Given the description of an element on the screen output the (x, y) to click on. 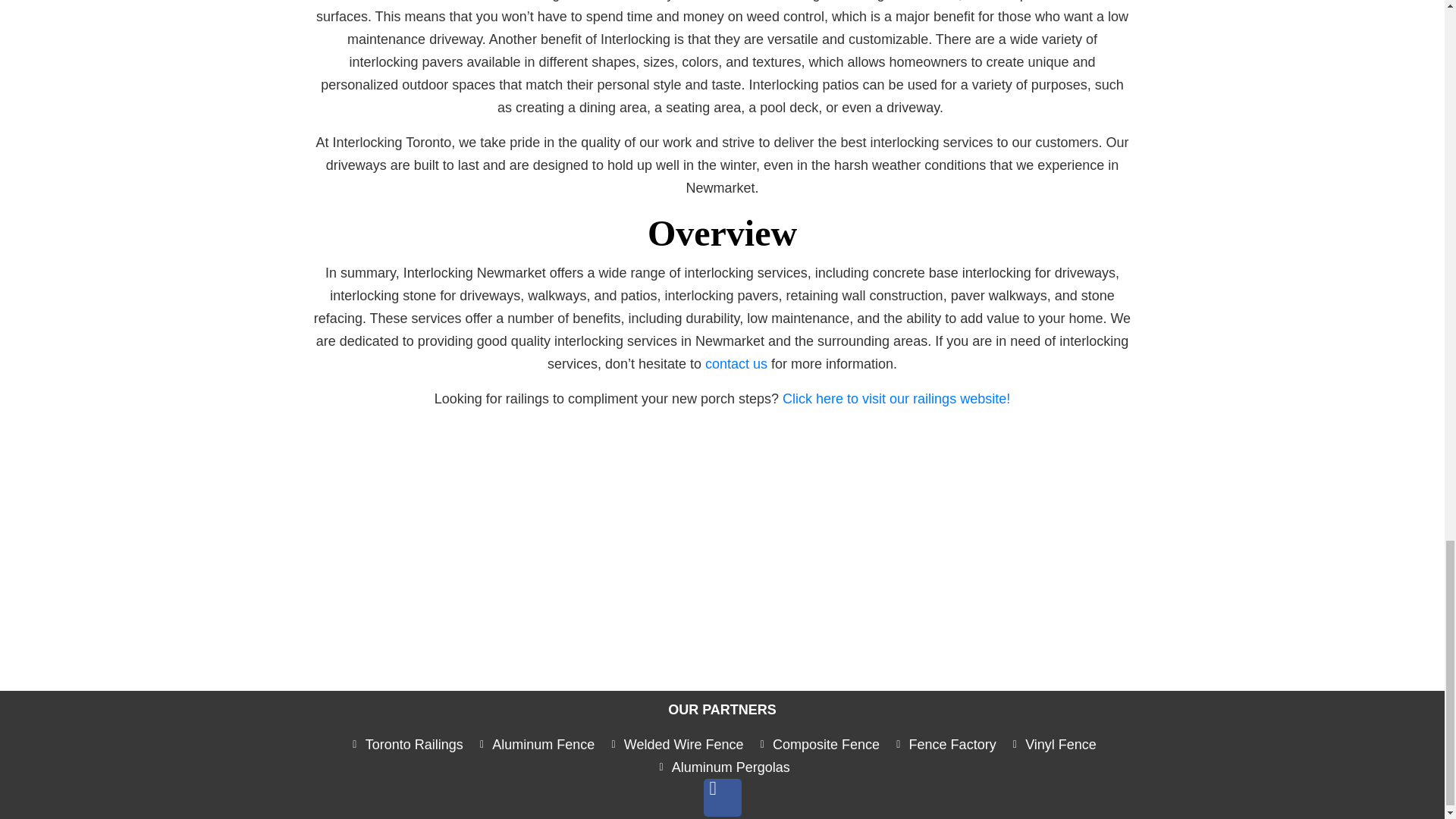
Click here to visit our railings website! (896, 398)
contact us (735, 363)
Vinyl Fence (1052, 744)
Fence Factory (943, 744)
Aluminum Fence (535, 744)
Welded Wire Fence (674, 744)
Toronto Railings (405, 744)
Composite Fence (817, 744)
Aluminum Pergolas (721, 766)
